Given the description of an element on the screen output the (x, y) to click on. 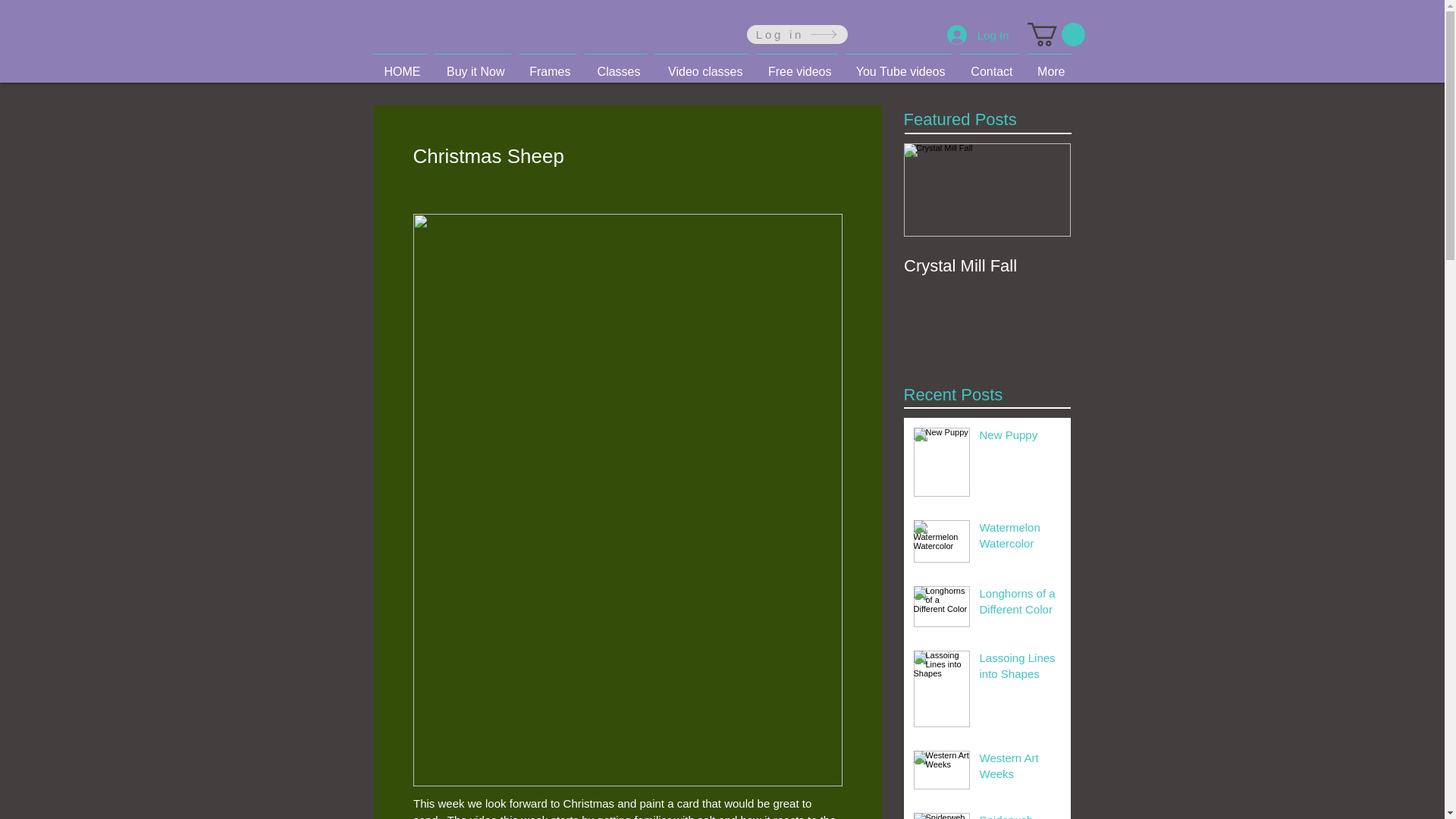
Buy it Now (472, 65)
Watermelon Watercolor (1020, 538)
Log in (796, 34)
Free videos (796, 65)
Video classes (701, 65)
Contact (989, 65)
Longhorns of a Different Color (1020, 604)
Classes (615, 65)
Frames (546, 65)
Spiderweb (1020, 815)
Log In (978, 34)
New Puppy (1020, 437)
You Tube videos (898, 65)
Crystal Mill Fall (987, 250)
HOME (398, 65)
